Given the description of an element on the screen output the (x, y) to click on. 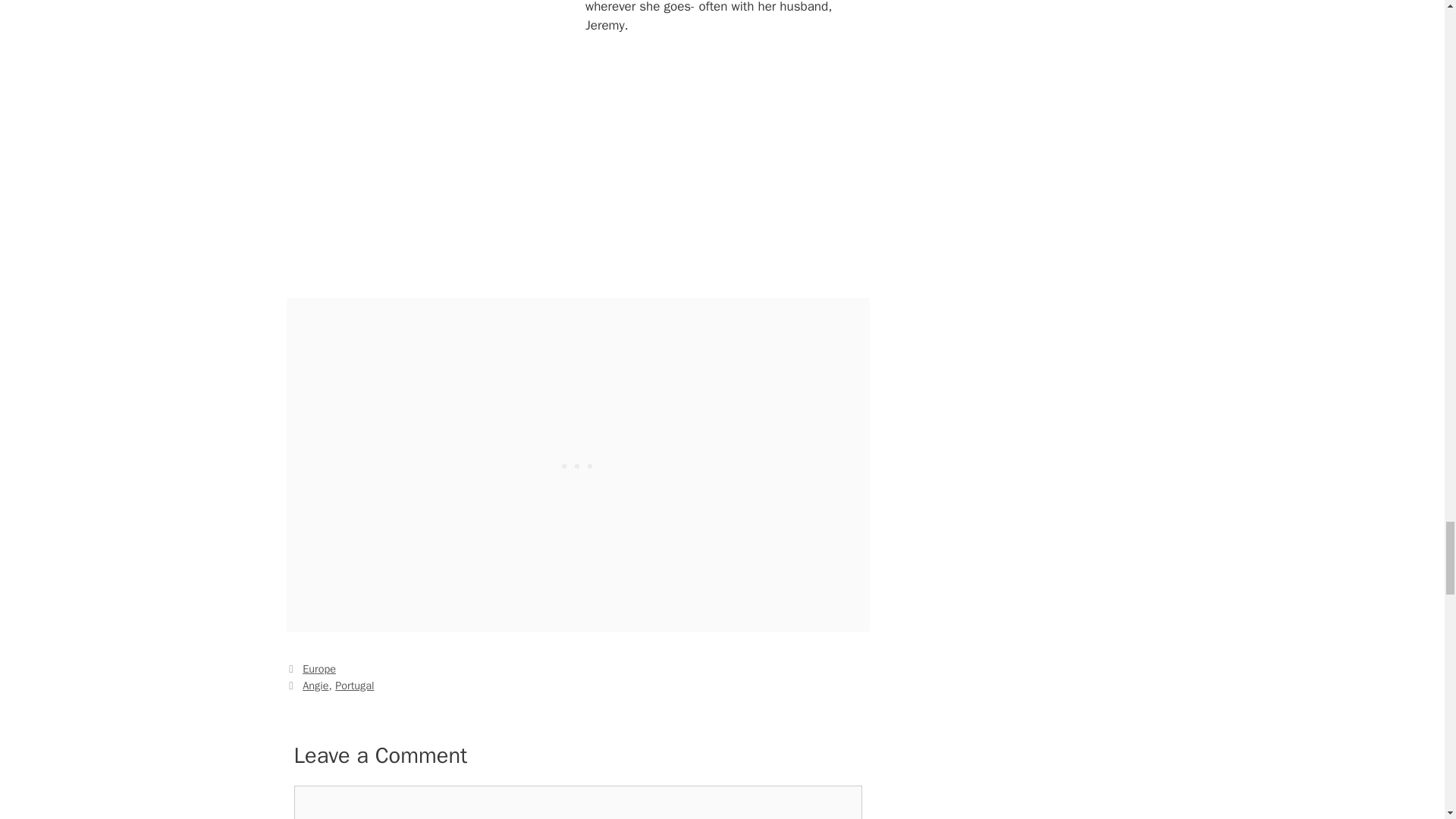
Angie from Living the Dream (435, 138)
Portugal (354, 685)
Angie (315, 685)
Europe (319, 668)
